Given the description of an element on the screen output the (x, y) to click on. 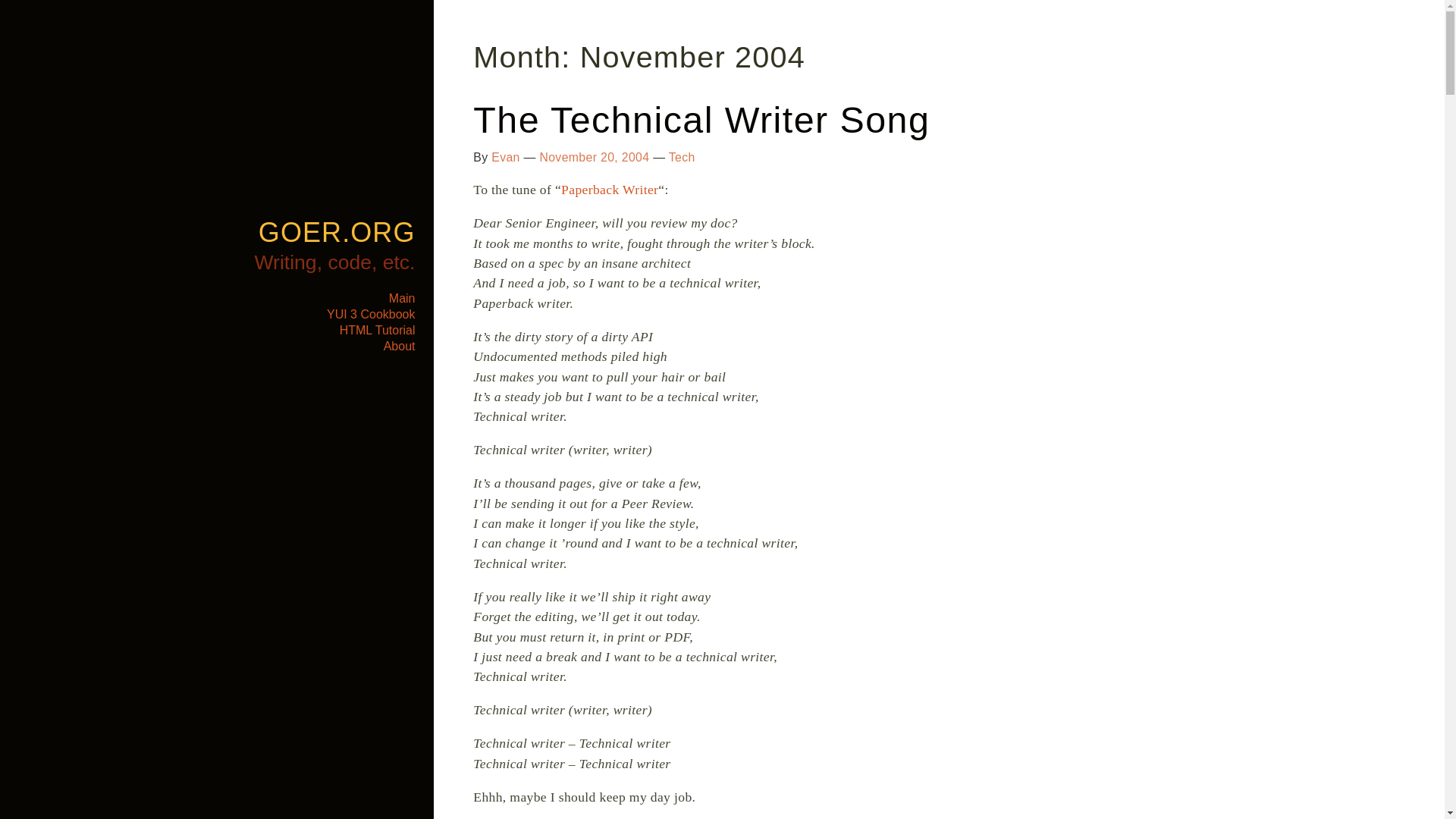
About (399, 345)
Paperback Writer (609, 189)
HTML Tutorial (376, 329)
lyrics John Lennon (609, 189)
GOER.ORG (336, 232)
Tech (681, 156)
YUI 3 Cookbook (370, 314)
November 20, 2004 (593, 156)
The Technical Writer Song (701, 119)
Main (401, 297)
Evan (505, 156)
